Given the description of an element on the screen output the (x, y) to click on. 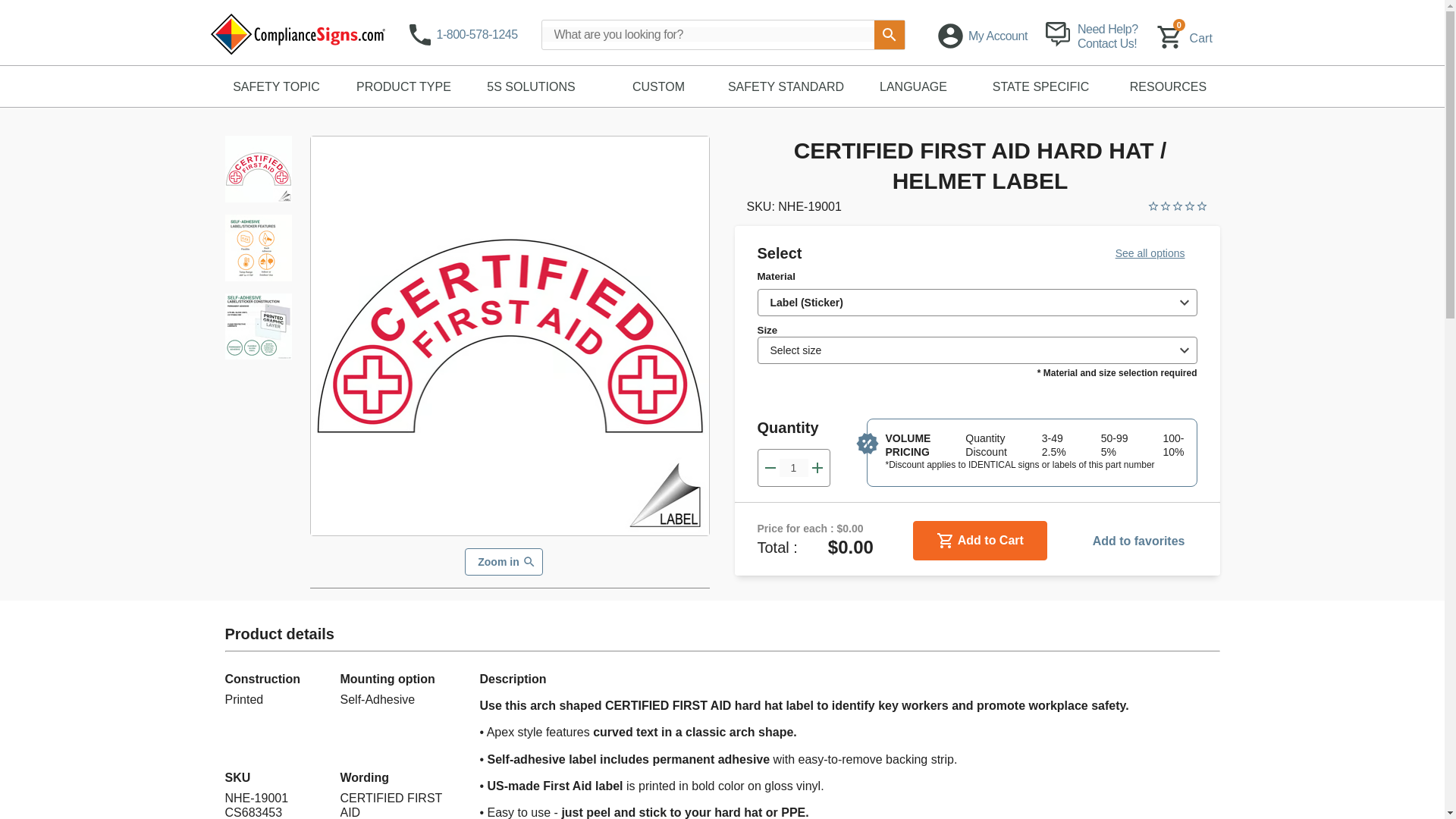
1 (793, 467)
SAFETY TOPIC (275, 86)
1-800-578-1245 (465, 34)
on (1190, 36)
